Given the description of an element on the screen output the (x, y) to click on. 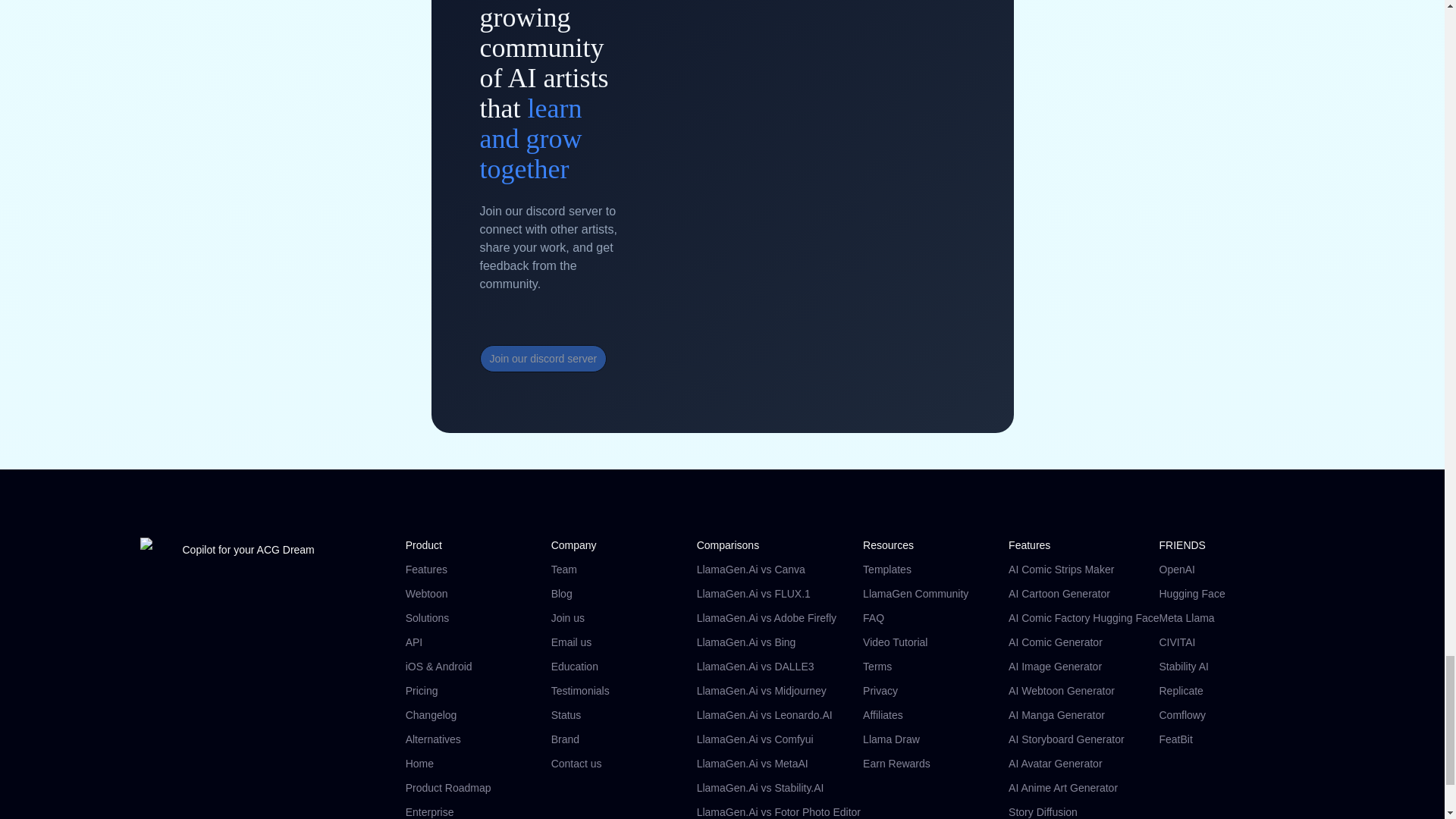
Join our discord server (543, 358)
Join our discord server (553, 358)
Features (478, 569)
